Given the description of an element on the screen output the (x, y) to click on. 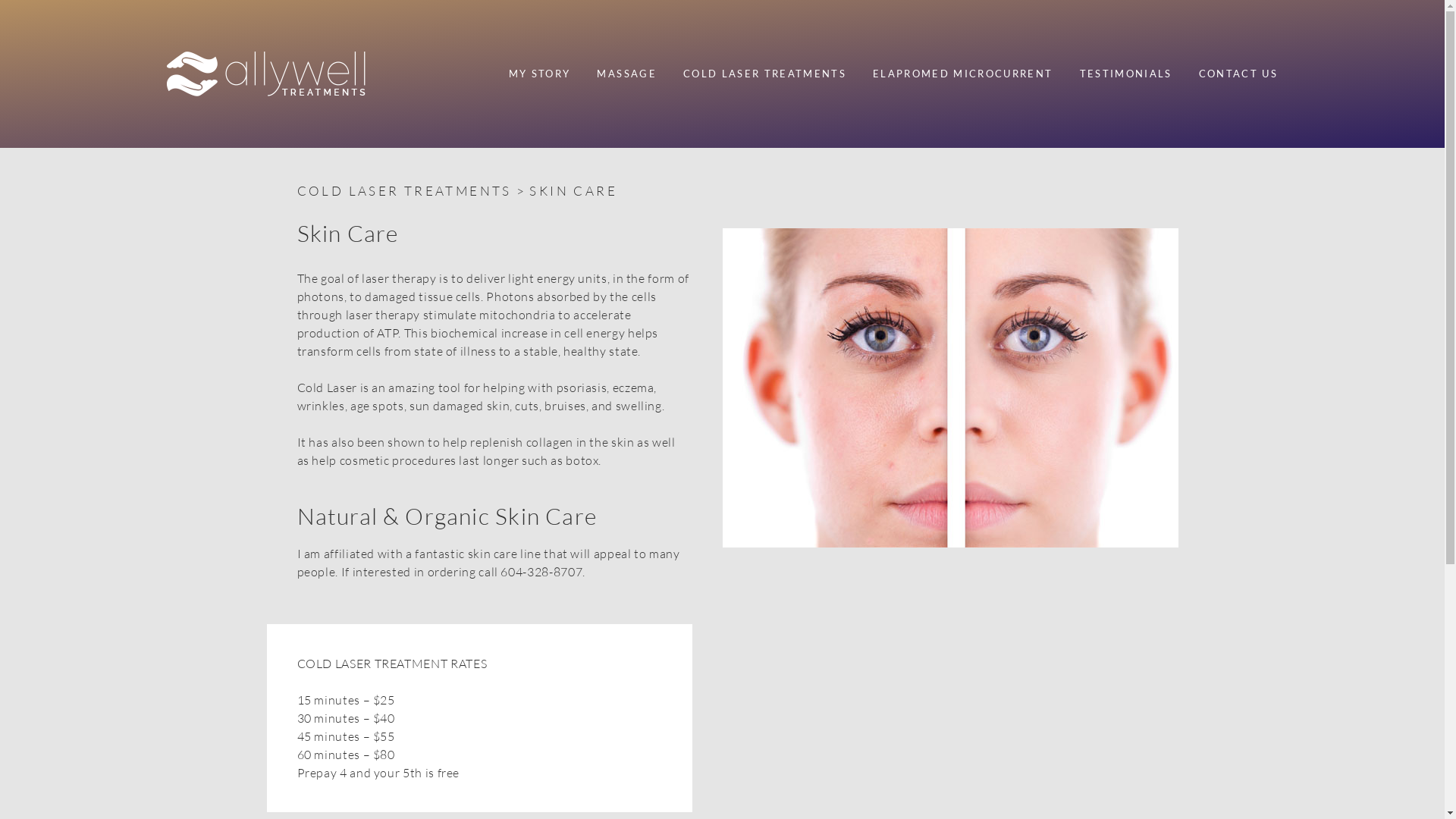
MY STORY Element type: text (539, 73)
CONTACT US Element type: text (1231, 73)
TESTIMONIALS Element type: text (1125, 73)
ELAPROMED MICROCURRENT Element type: text (962, 73)
COLD LASER TREATMENTS Element type: text (764, 73)
MASSAGE Element type: text (626, 73)
